Given the description of an element on the screen output the (x, y) to click on. 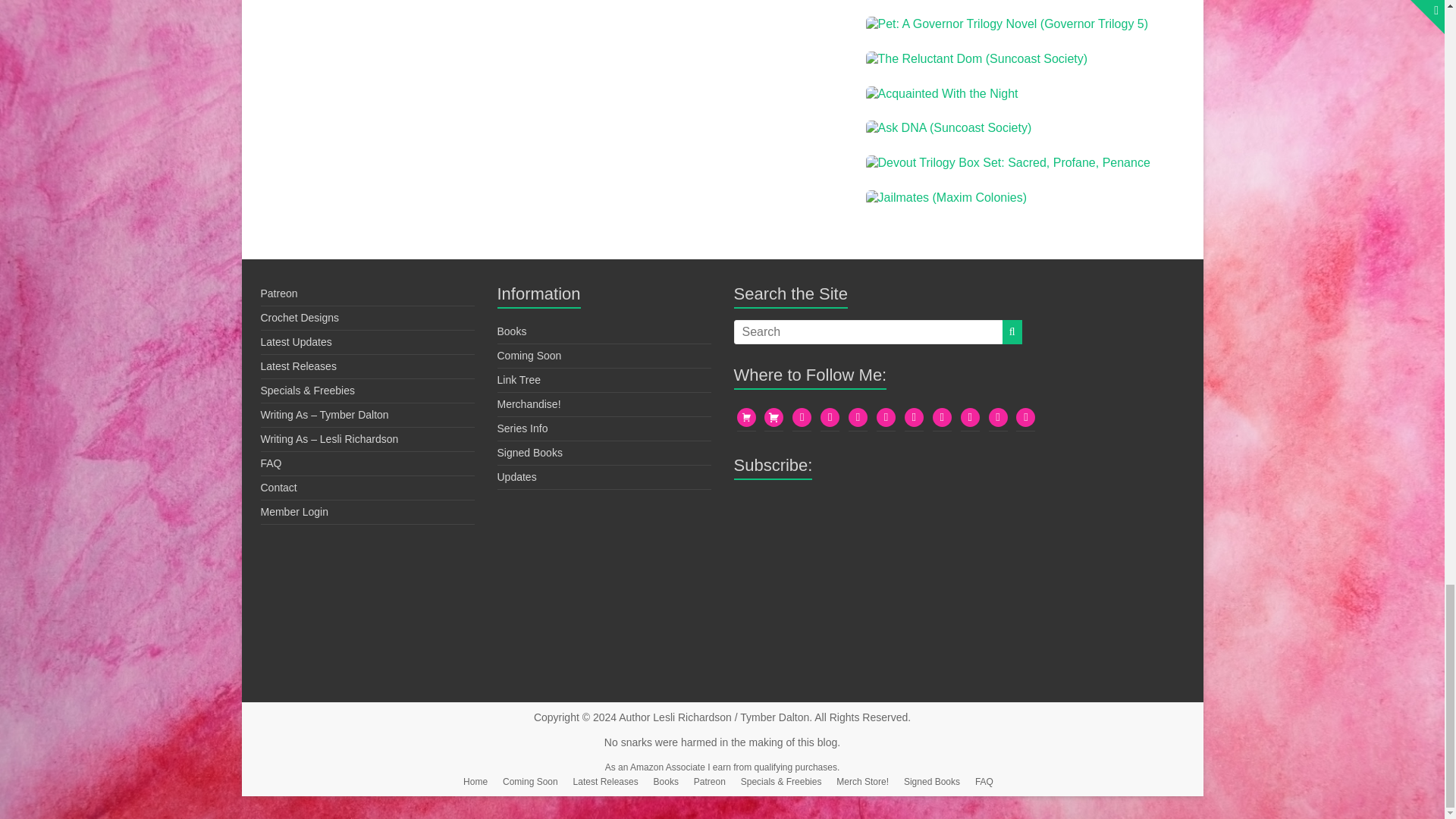
Default Label (997, 416)
Default Label (801, 416)
Twitter (857, 416)
Default Label (1025, 416)
Facebook (969, 416)
Default Label (830, 416)
Default Label (885, 416)
Default Label (913, 416)
Instagram (942, 416)
